Given the description of an element on the screen output the (x, y) to click on. 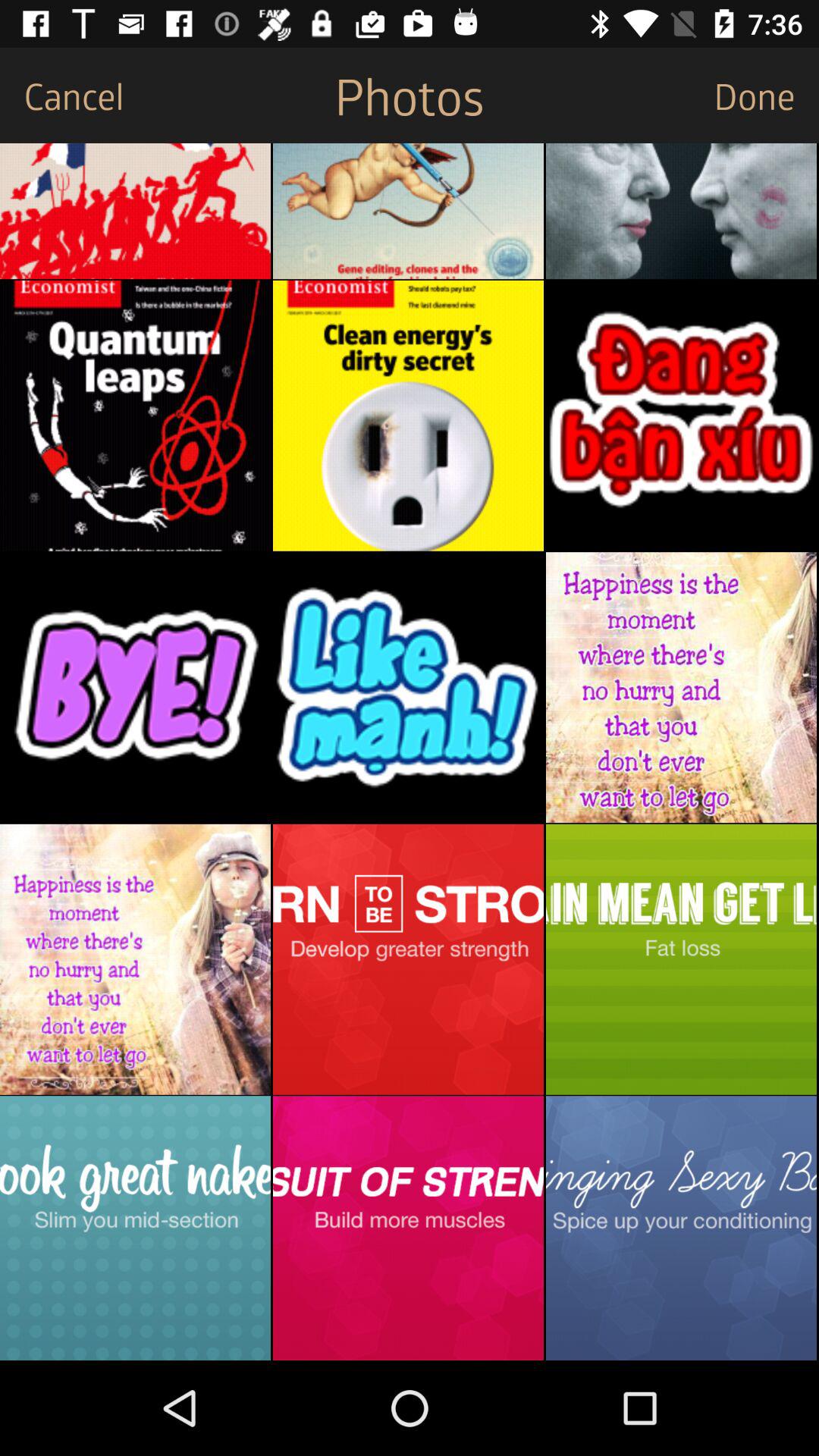
select the photo (408, 1227)
